Given the description of an element on the screen output the (x, y) to click on. 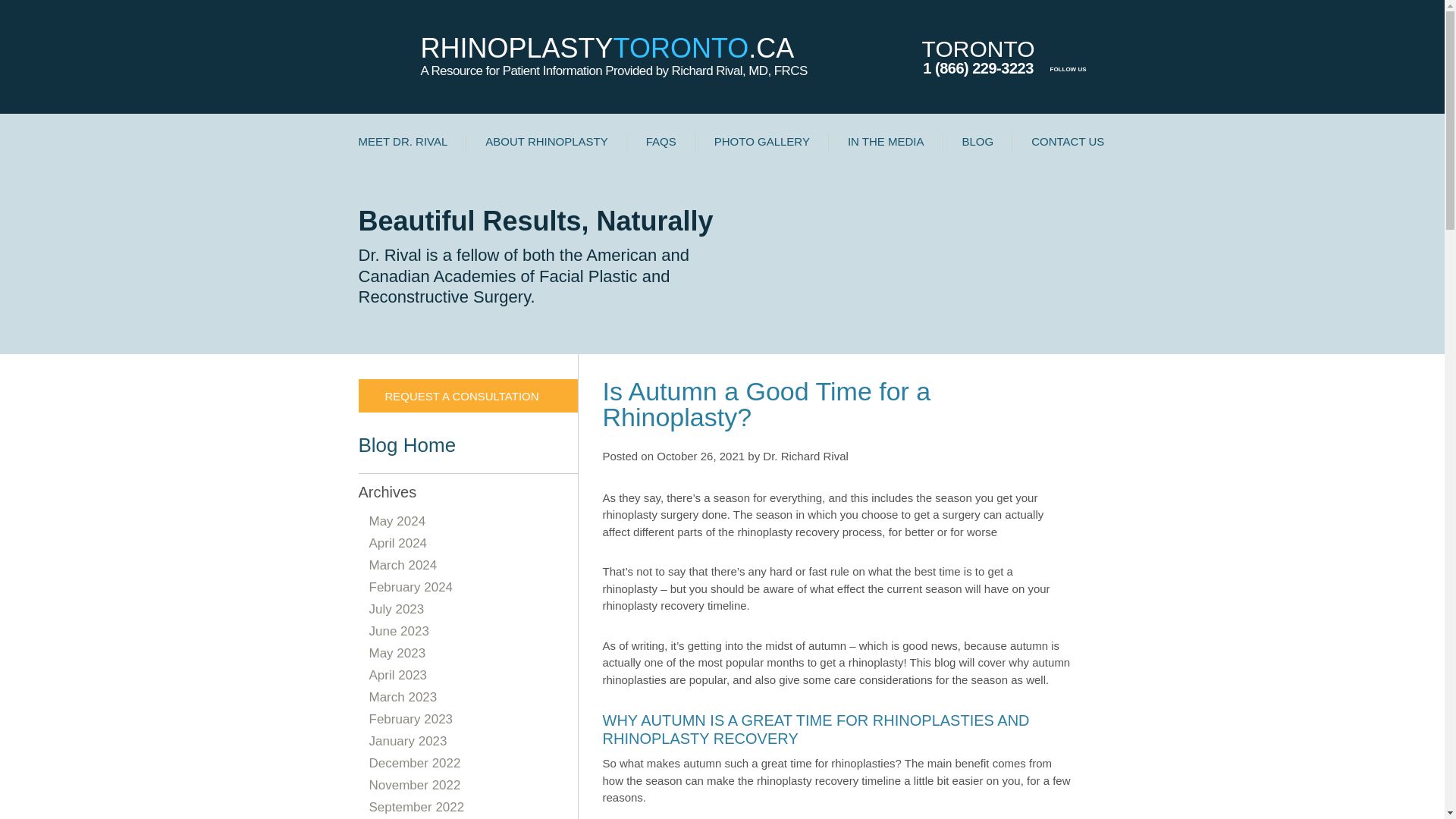
IN THE MEDIA (885, 141)
ABOUT RHINOPLASTY (545, 141)
FOLLOW US (1067, 56)
CONTACT US (1066, 141)
PHOTO GALLERY (761, 141)
BLOG (978, 141)
MEET DR. RIVAL (403, 141)
FAQS (661, 141)
